Given the description of an element on the screen output the (x, y) to click on. 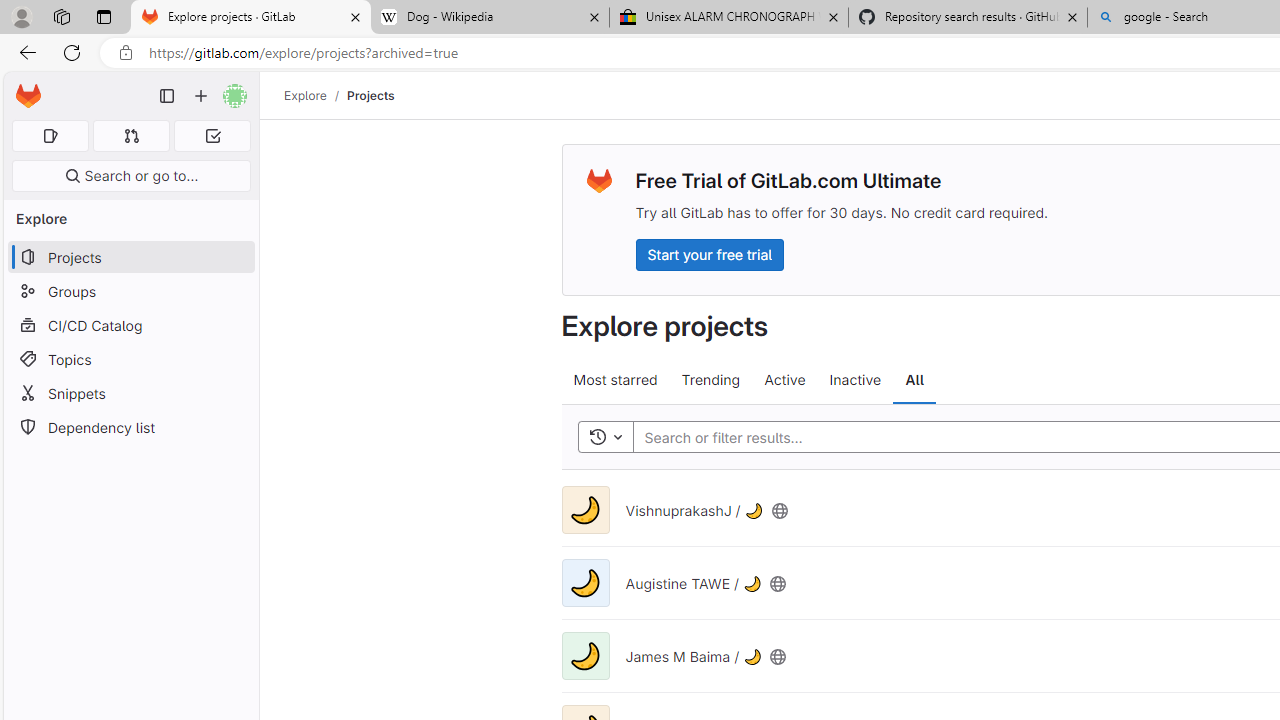
Snippets (130, 393)
